Given the description of an element on the screen output the (x, y) to click on. 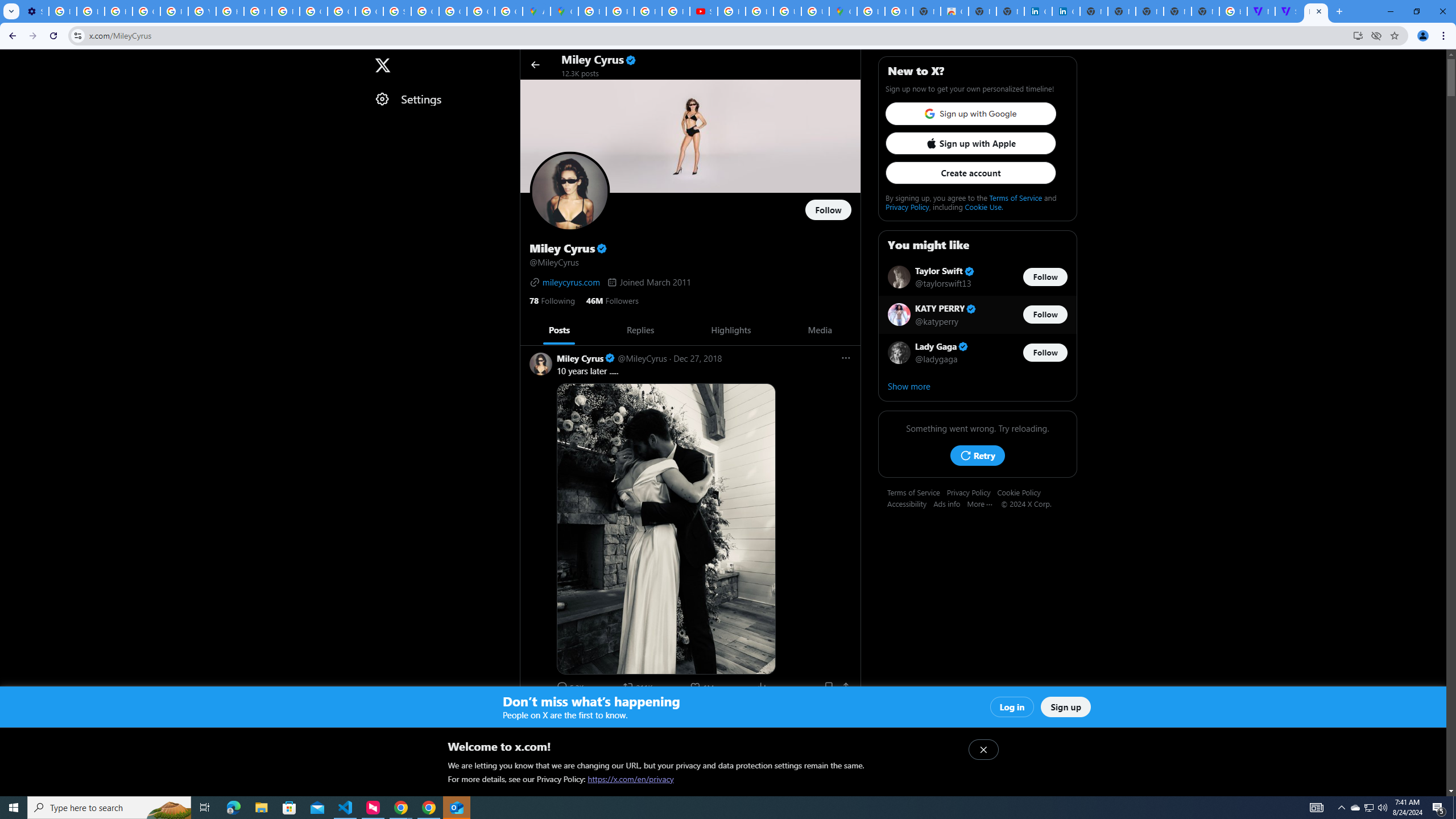
View post analytics (762, 686)
Privacy Help Center - Policies Help (257, 11)
Replies (640, 329)
Sign up with Apple (970, 142)
New Tab (1205, 11)
Settings - Customize profile (34, 11)
Cookie Policy (1022, 492)
KATY PERRY Verified account @katyperry Follow @katyperry (977, 314)
